Given the description of an element on the screen output the (x, y) to click on. 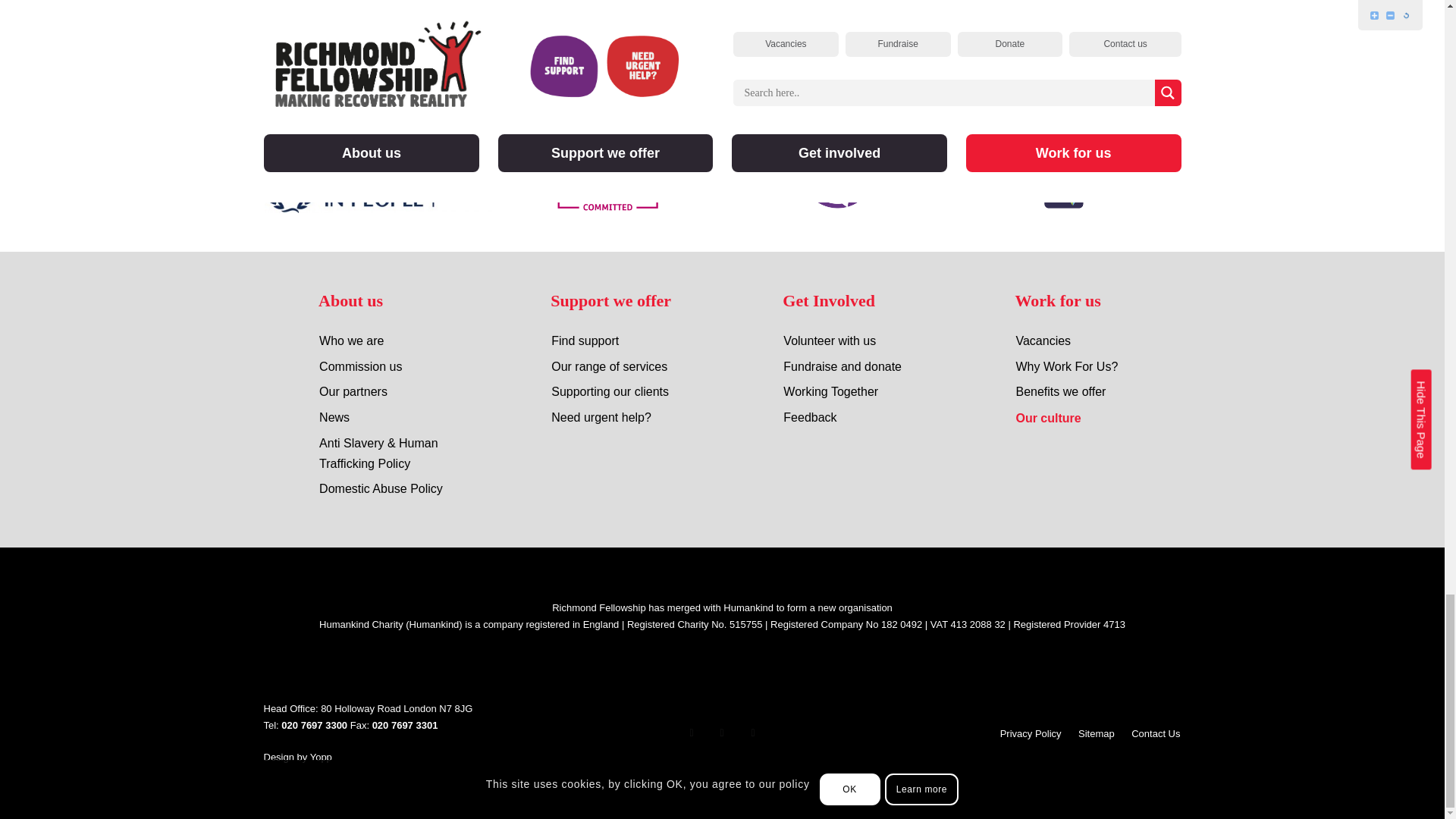
recovery-footer-logo (336, 48)
